Given the description of an element on the screen output the (x, y) to click on. 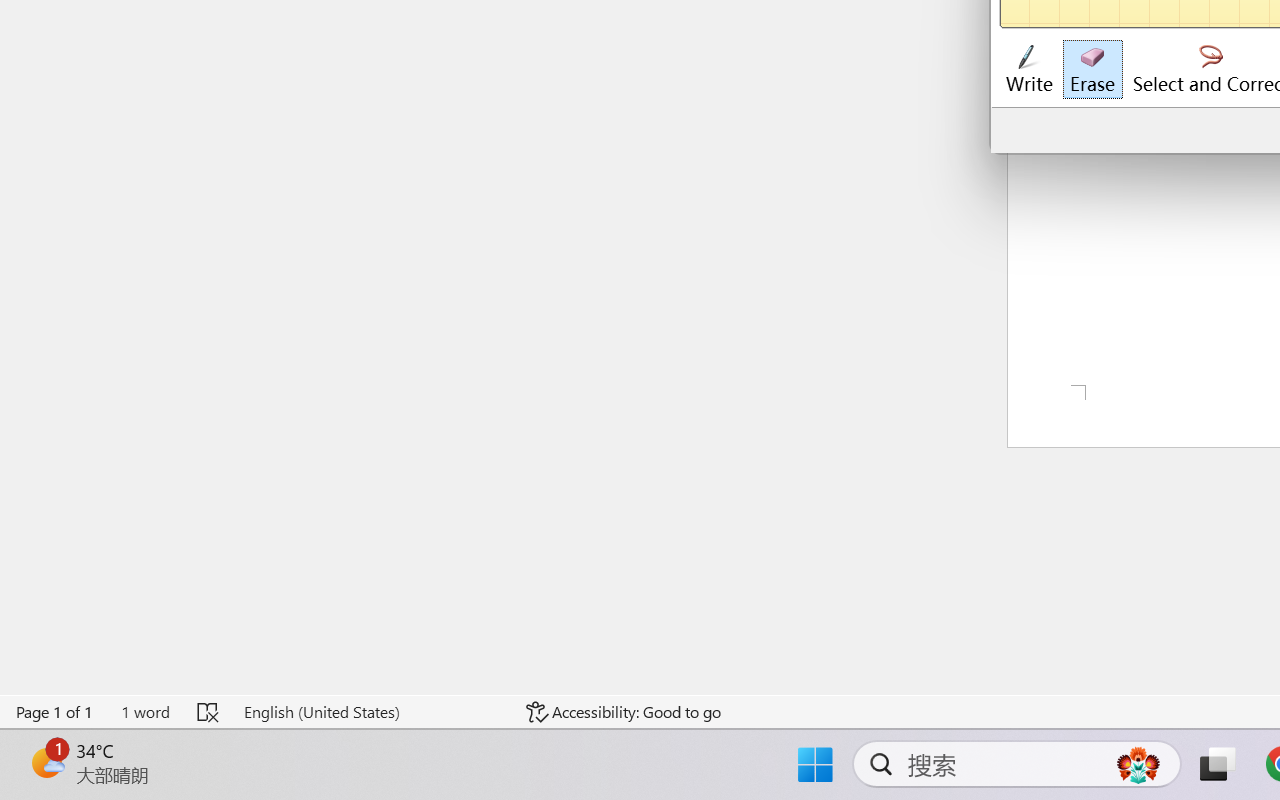
Write (1028, 69)
Erase (1092, 69)
